Given the description of an element on the screen output the (x, y) to click on. 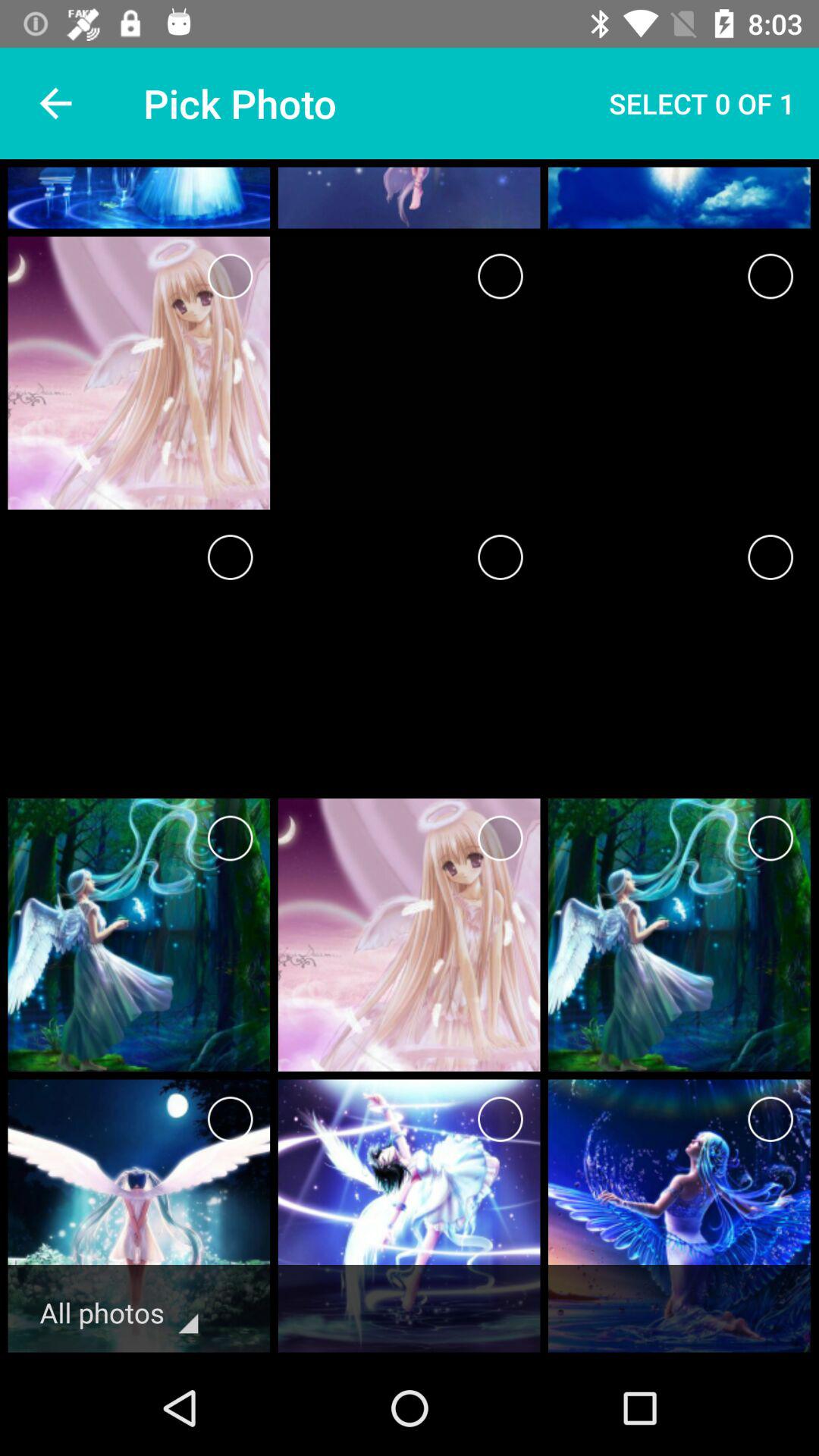
toggle select (500, 838)
